Given the description of an element on the screen output the (x, y) to click on. 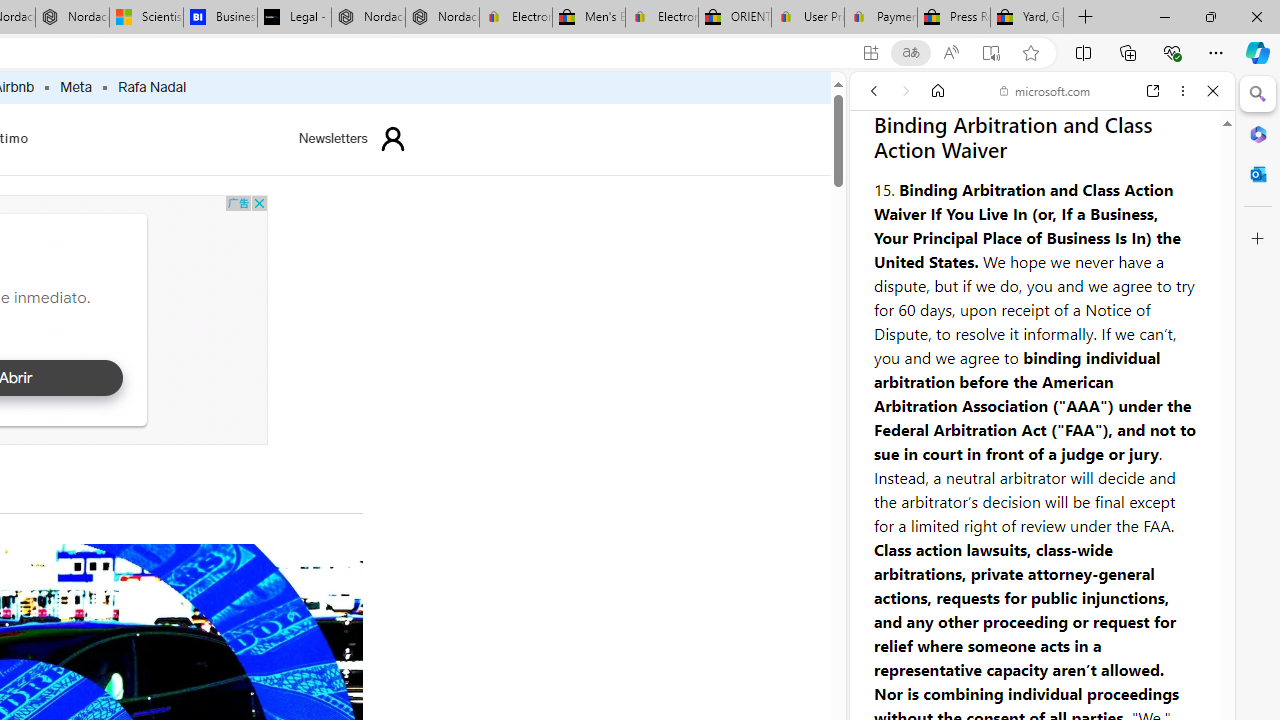
Forward (906, 91)
Electronics, Cars, Fashion, Collectibles & More | eBay (661, 17)
This site scope (936, 180)
Meta (75, 88)
Yard, Garden & Outdoor Living (1026, 17)
Press Room - eBay Inc. (953, 17)
